Given the description of an element on the screen output the (x, y) to click on. 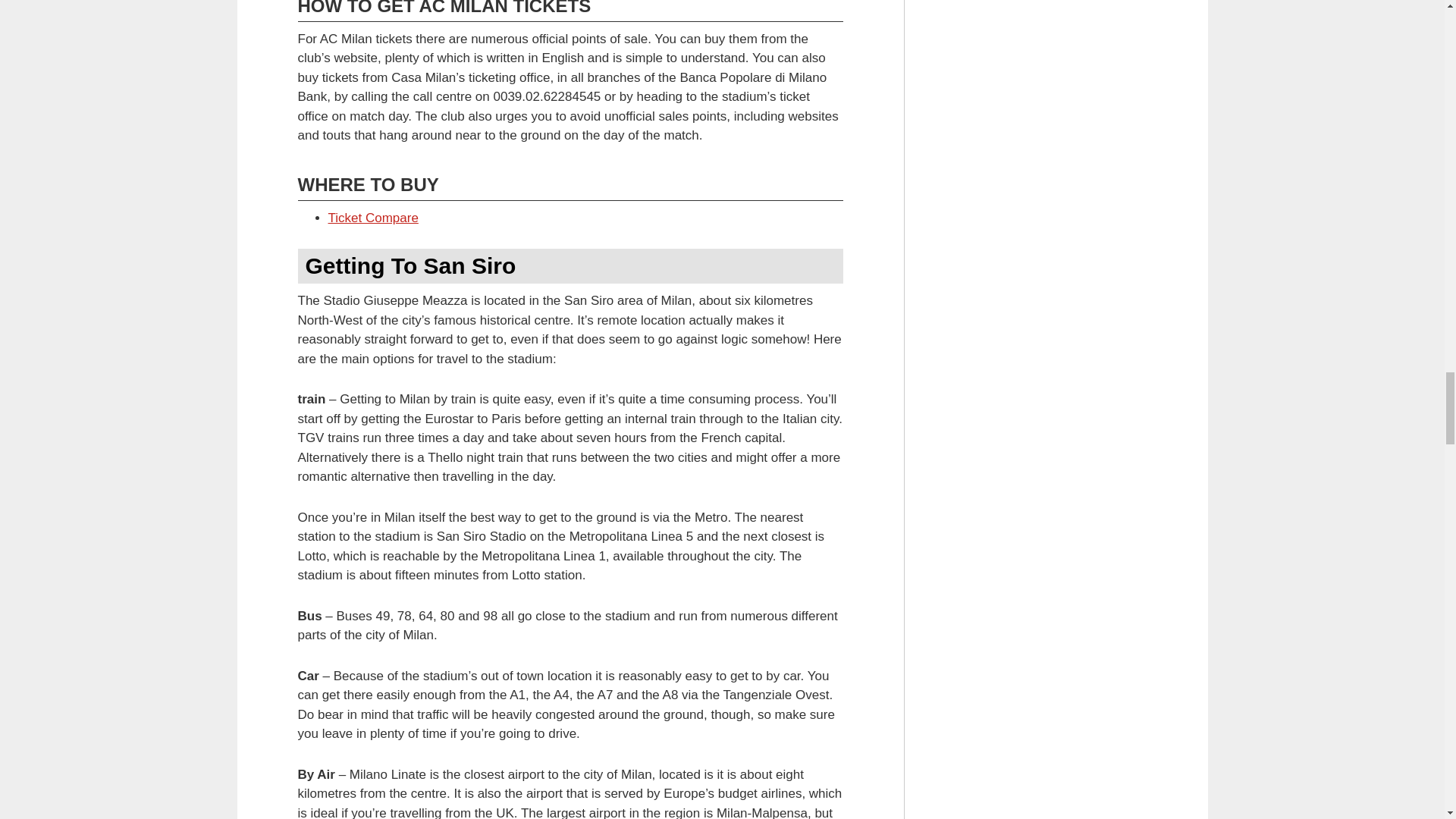
Ticket Compare (372, 217)
